Given the description of an element on the screen output the (x, y) to click on. 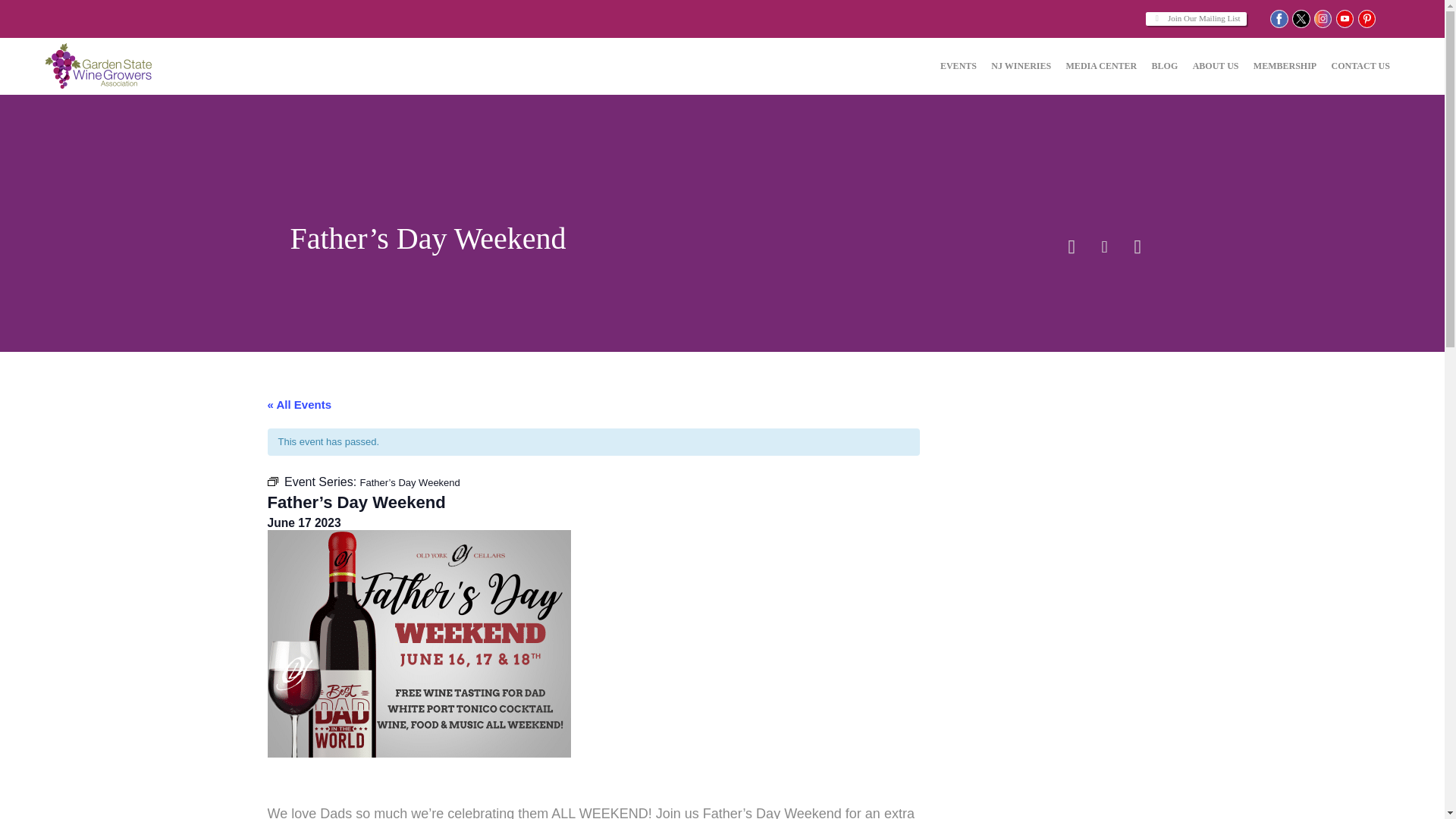
EVENTS (957, 66)
MEDIA CENTER (1100, 66)
ABOUT US (1214, 66)
Garden State Wine Growers Association (101, 66)
Event Series (272, 481)
BLOG (1163, 66)
NJ WINERIES (1021, 66)
